Given the description of an element on the screen output the (x, y) to click on. 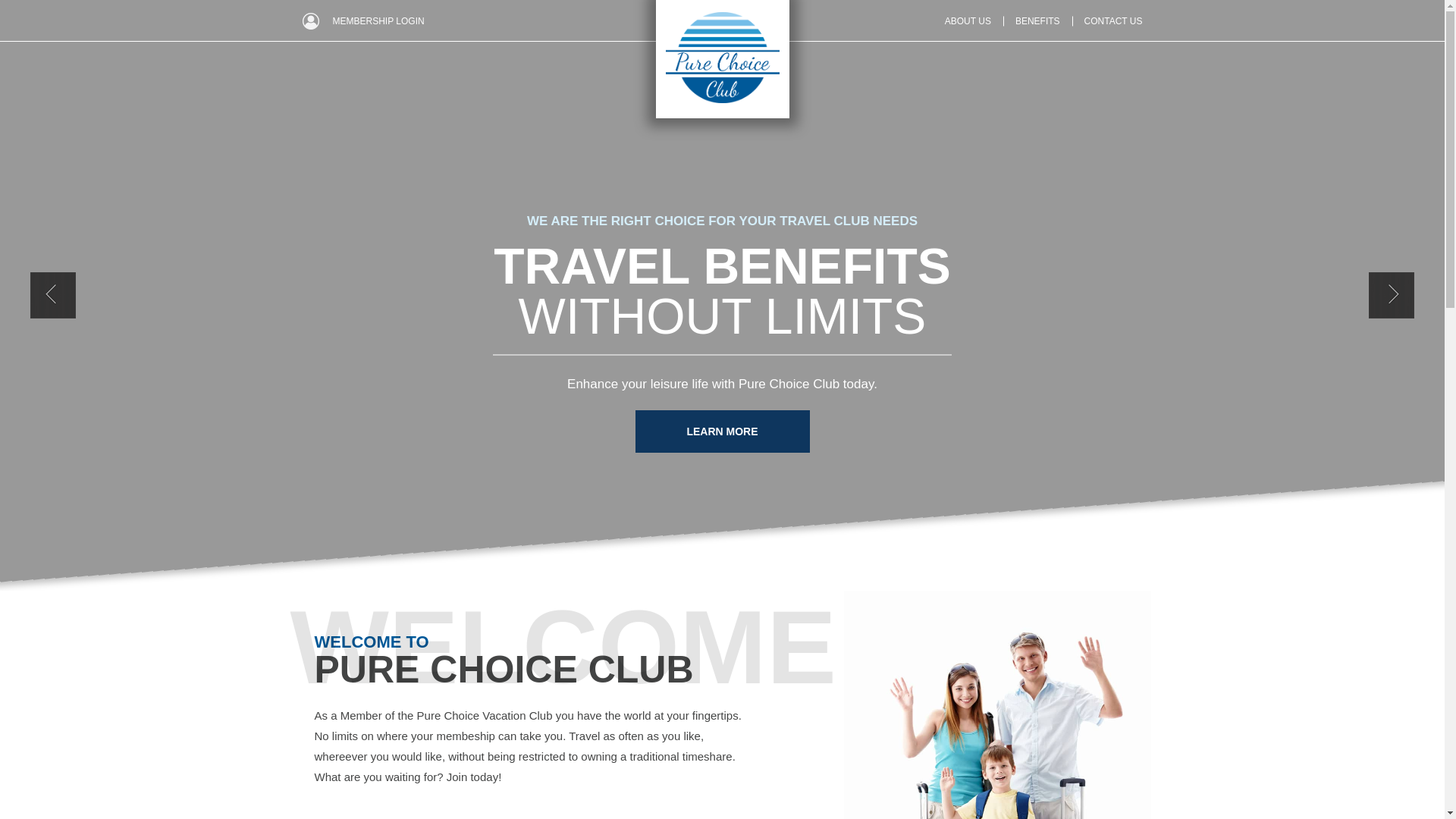
LEARN MORE (721, 431)
CONTACT US (1112, 20)
ABOUT US (968, 20)
MEMBERSHIP LOGIN (377, 20)
BENEFITS (1037, 20)
